Given the description of an element on the screen output the (x, y) to click on. 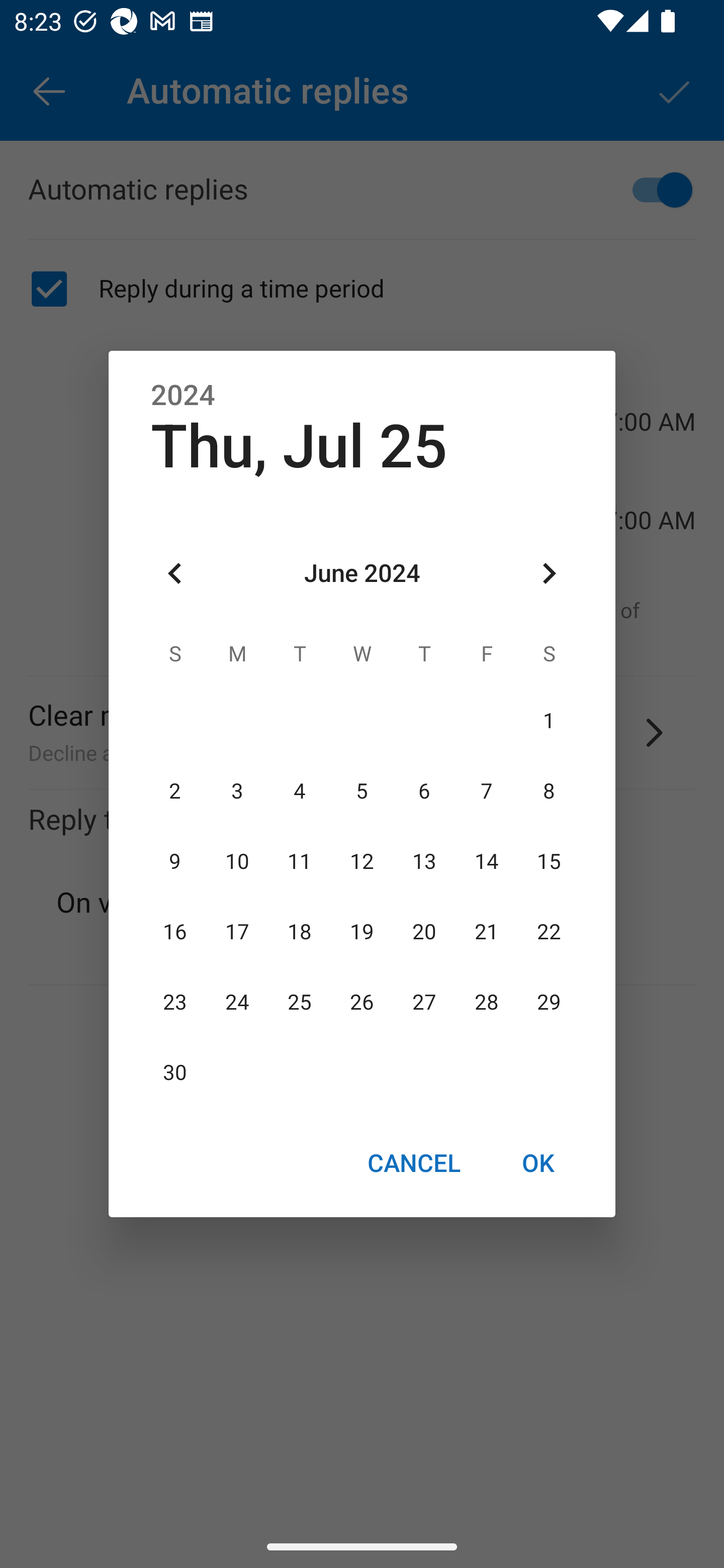
2024 (182, 395)
Thu, Jul 25 (298, 446)
Previous month (174, 573)
Next month (548, 573)
1 01 June 2024 (548, 720)
2 02 June 2024 (175, 790)
3 03 June 2024 (237, 790)
4 04 June 2024 (299, 790)
5 05 June 2024 (361, 790)
6 06 June 2024 (424, 790)
7 07 June 2024 (486, 790)
8 08 June 2024 (548, 790)
9 09 June 2024 (175, 861)
10 10 June 2024 (237, 861)
11 11 June 2024 (299, 861)
12 12 June 2024 (361, 861)
13 13 June 2024 (424, 861)
14 14 June 2024 (486, 861)
15 15 June 2024 (548, 861)
16 16 June 2024 (175, 931)
17 17 June 2024 (237, 931)
18 18 June 2024 (299, 931)
19 19 June 2024 (361, 931)
20 20 June 2024 (424, 931)
21 21 June 2024 (486, 931)
22 22 June 2024 (548, 931)
23 23 June 2024 (175, 1002)
24 24 June 2024 (237, 1002)
25 25 June 2024 (299, 1002)
26 26 June 2024 (361, 1002)
27 27 June 2024 (424, 1002)
28 28 June 2024 (486, 1002)
29 29 June 2024 (548, 1002)
30 30 June 2024 (175, 1073)
CANCEL (413, 1162)
OK (537, 1162)
